Given the description of an element on the screen output the (x, y) to click on. 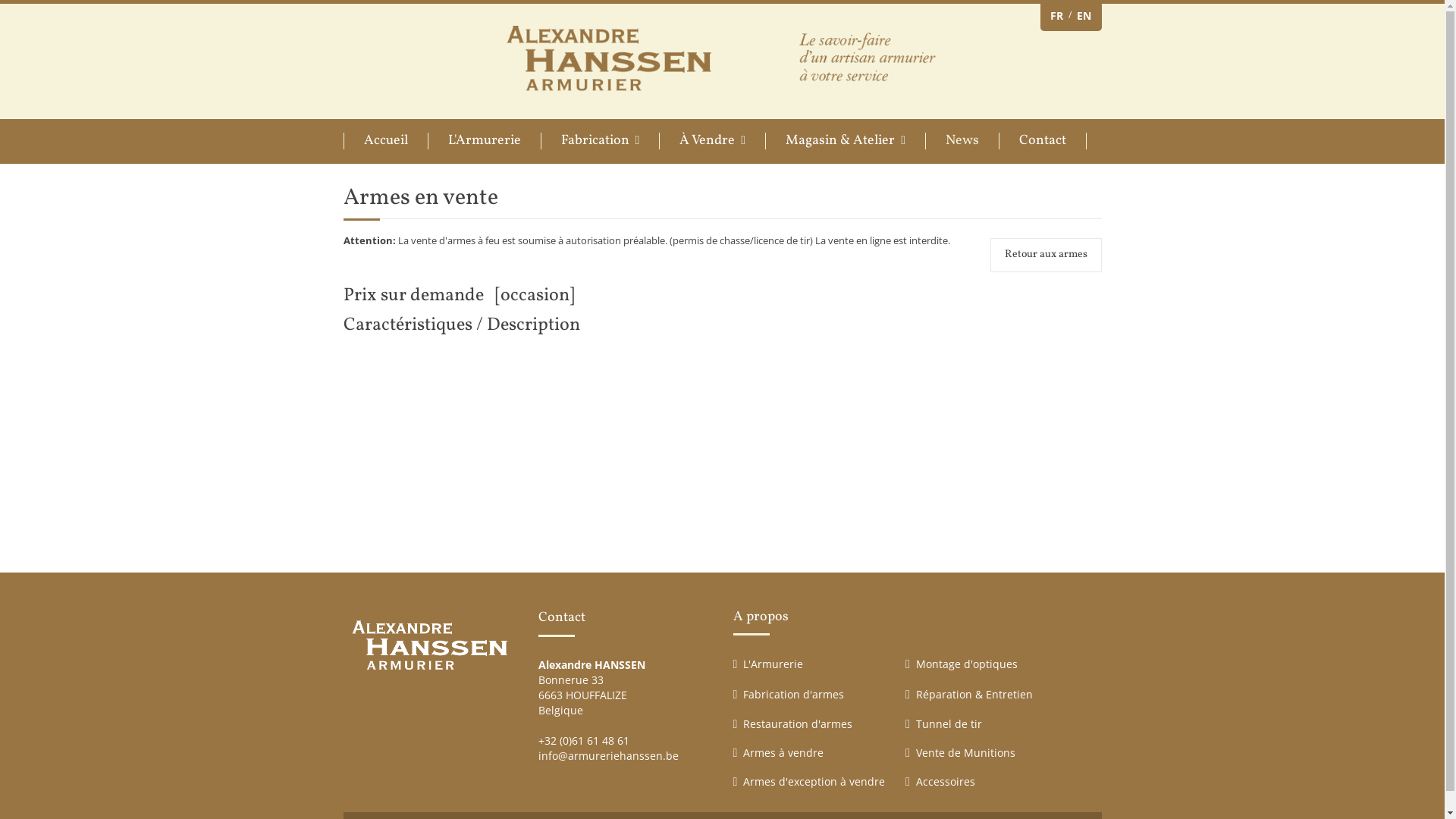
L'Armurerie Element type: text (773, 663)
info@armureriehanssen.be Element type: text (608, 755)
Fabrication Element type: text (598, 140)
Fabrication d'armes Element type: text (793, 694)
Tunnel de tir Element type: text (949, 722)
News Element type: text (961, 140)
Montage d'optiques Element type: text (966, 663)
Accueil Element type: text (384, 140)
Restauration d'armes Element type: text (797, 722)
L'Armurerie Element type: text (483, 140)
EN Element type: text (1083, 15)
Retour aux armes Element type: text (1045, 254)
Magasin & Atelier Element type: text (845, 140)
Vente de Munitions Element type: text (965, 752)
Accessoires Element type: text (945, 781)
FR Element type: text (1055, 15)
Contact Element type: text (1042, 140)
